Given the description of an element on the screen output the (x, y) to click on. 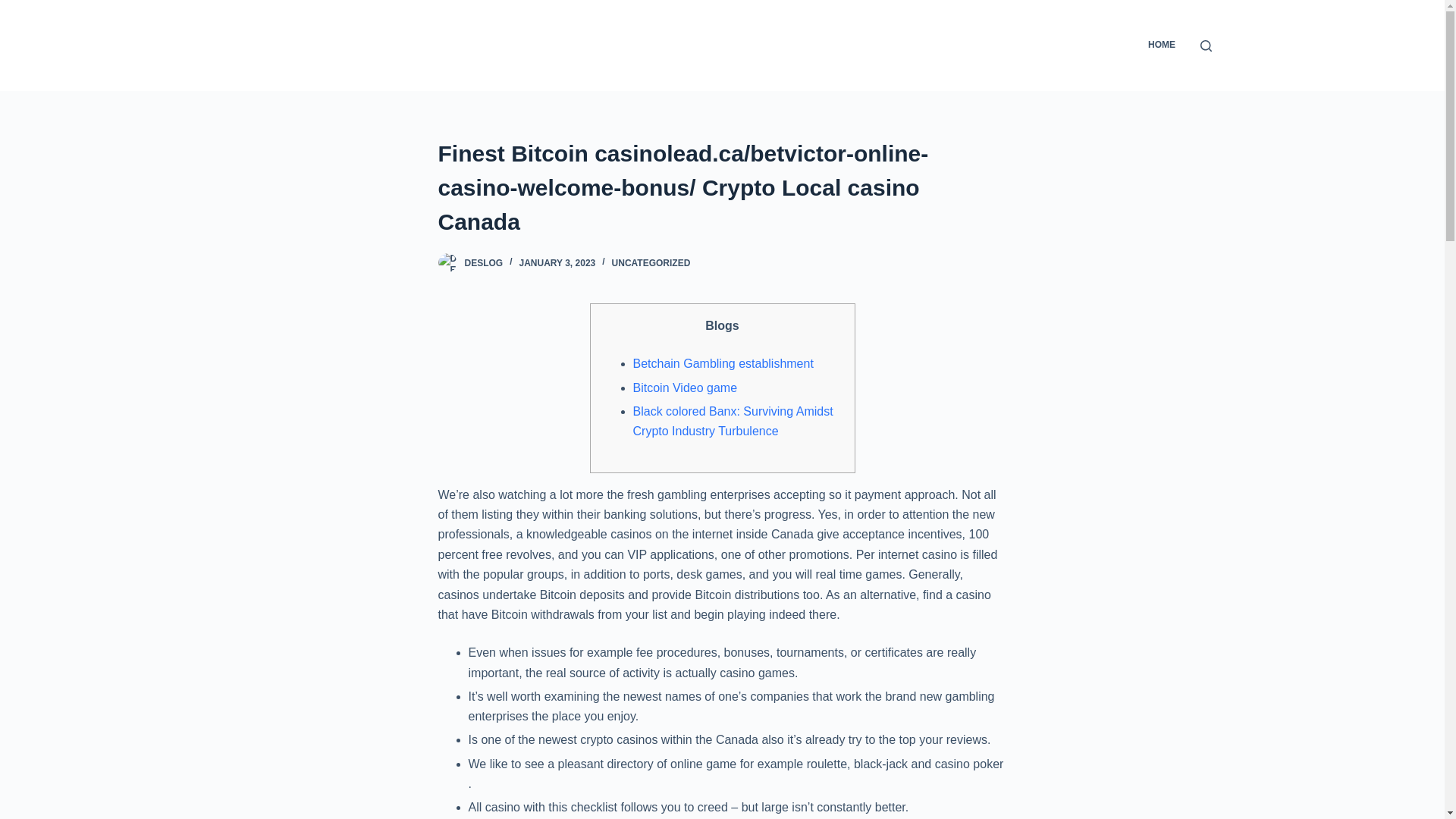
Skip to content (15, 7)
Betchain Gambling establishment (721, 363)
Bitcoin Video game (683, 387)
Posts by DESLOG (483, 262)
UNCATEGORIZED (650, 262)
DESLOG (483, 262)
